Given the description of an element on the screen output the (x, y) to click on. 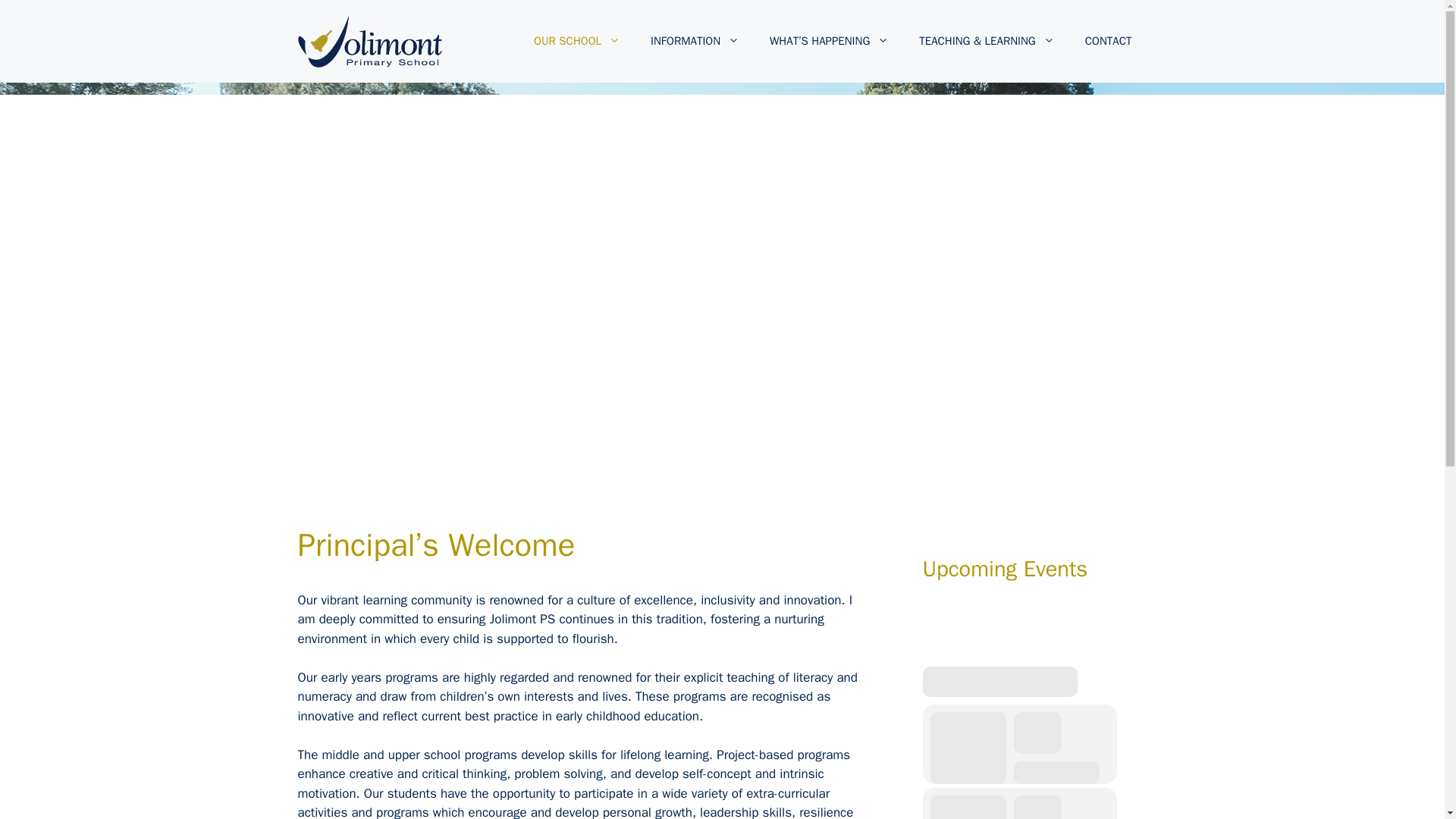
INFORMATION (694, 40)
OUR SCHOOL (576, 40)
CONTACT (1108, 40)
